Given the description of an element on the screen output the (x, y) to click on. 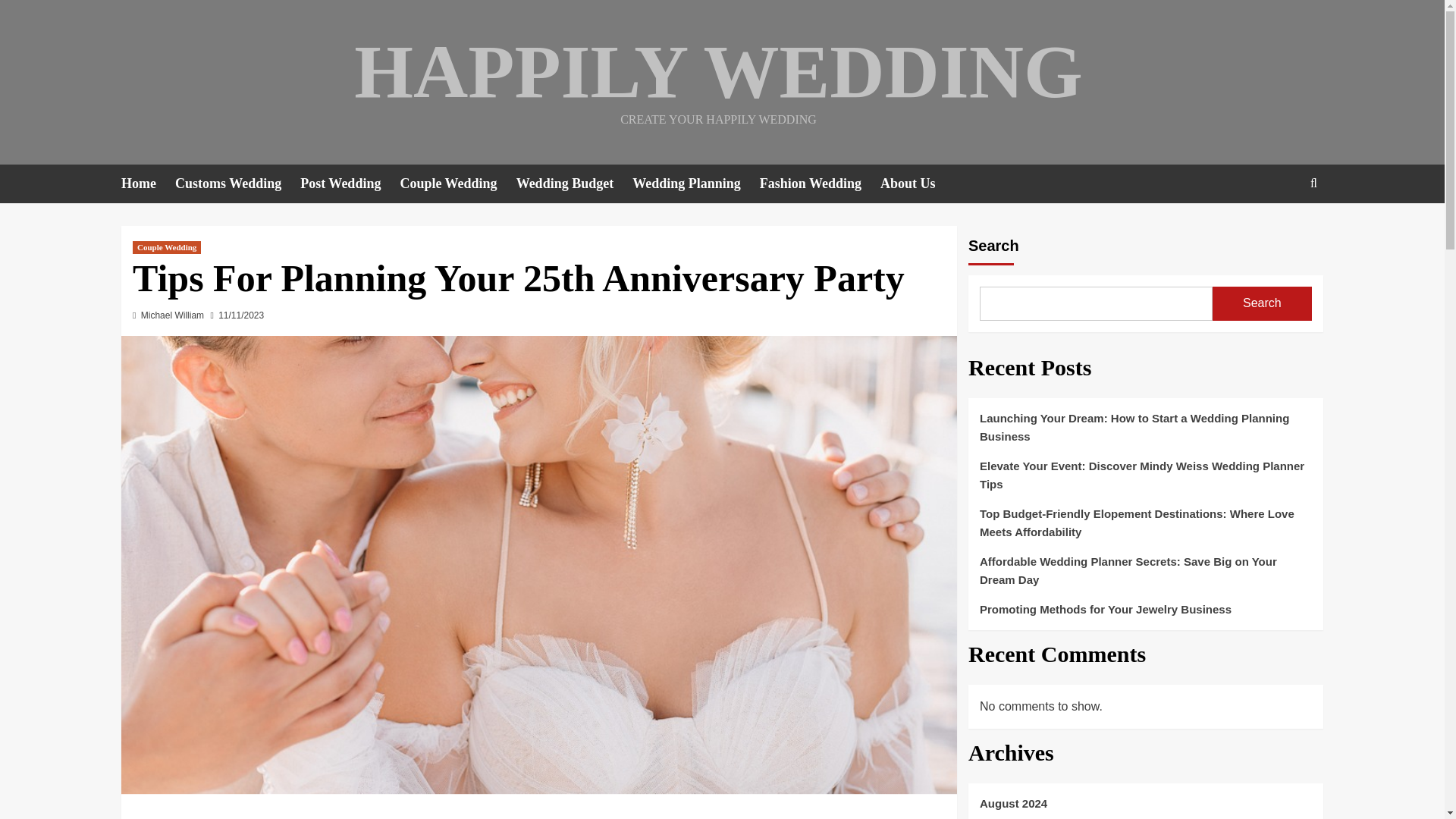
About Us (917, 183)
Michael William (172, 315)
Home (147, 183)
Post Wedding (348, 183)
HAPPILY WEDDING (717, 71)
Couple Wedding (166, 246)
Wedding Planning (695, 183)
Wedding Budget (574, 183)
Couple Wedding (456, 183)
